Given the description of an element on the screen output the (x, y) to click on. 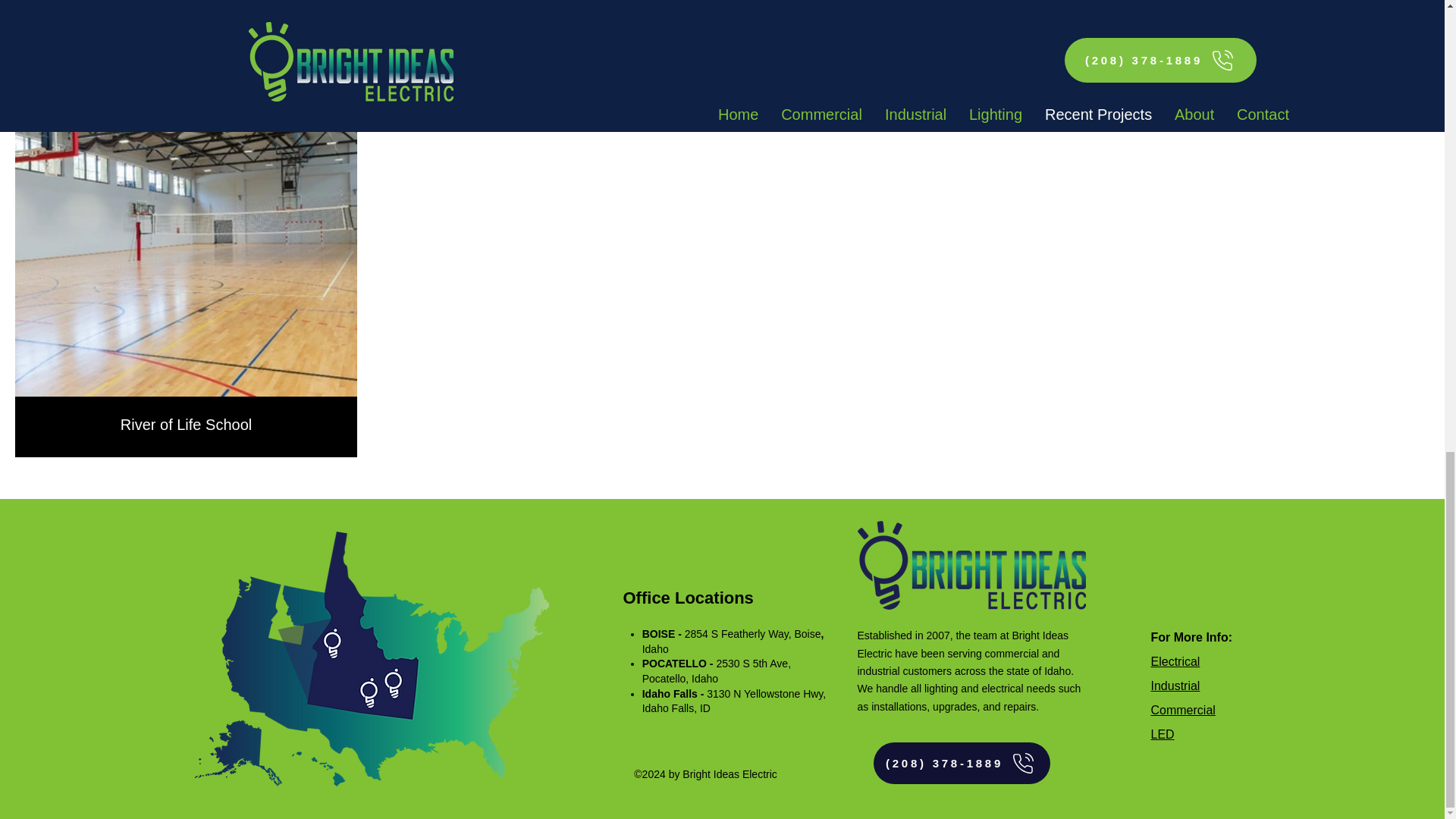
Electrical (1175, 661)
Industrial (1175, 685)
Commercial (1183, 709)
